Given the description of an element on the screen output the (x, y) to click on. 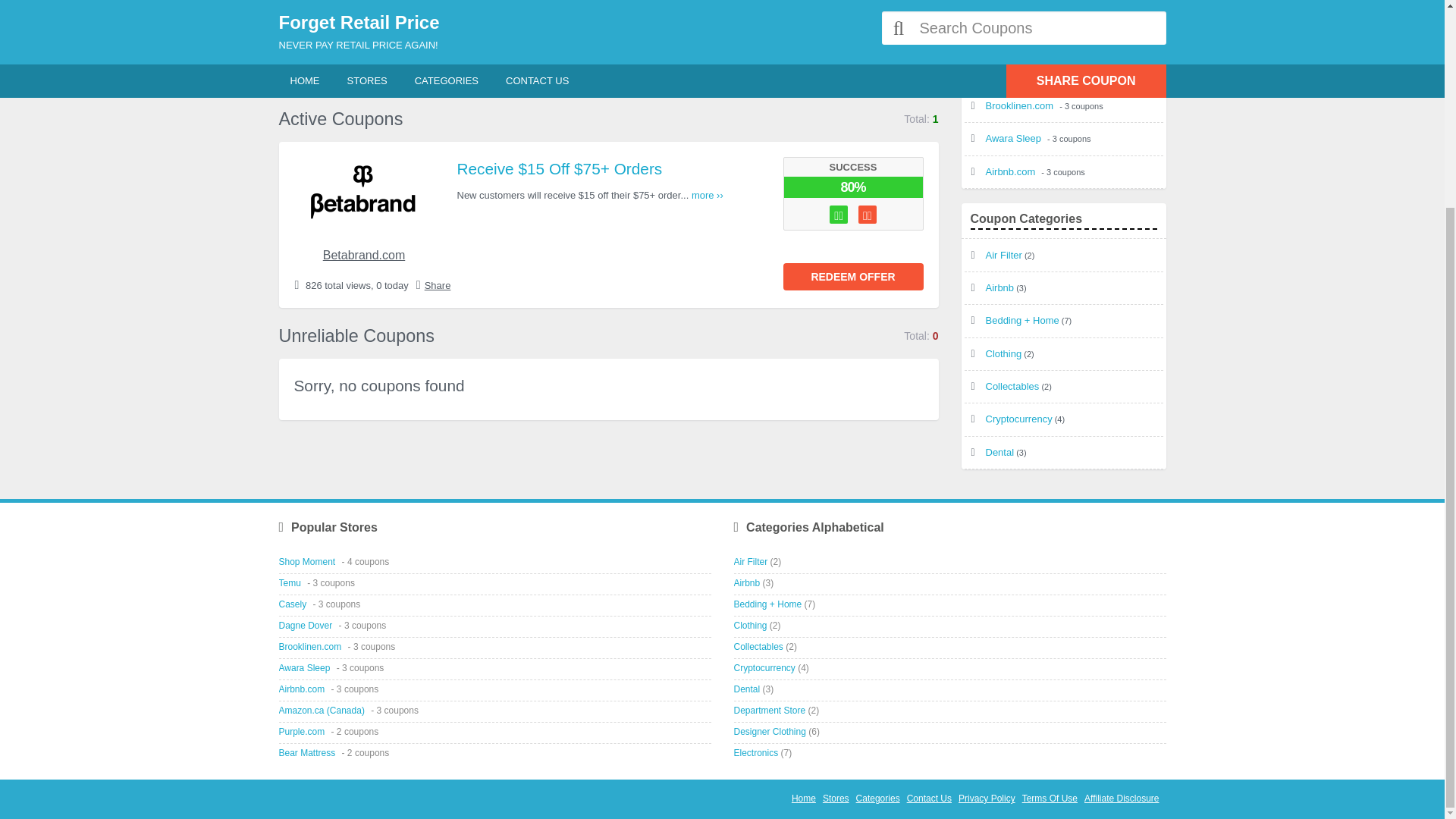
REDEEM OFFER (853, 276)
Casely (1002, 39)
Share (438, 285)
Click to open site (853, 276)
Dagne Dover (1016, 72)
Awara Sleep (1015, 138)
Airbnb (999, 287)
Airbnb.com (1012, 171)
Air Filter (1003, 255)
Brooklinen.com (1021, 105)
Betabrand.com (364, 254)
Temu (999, 7)
